Given the description of an element on the screen output the (x, y) to click on. 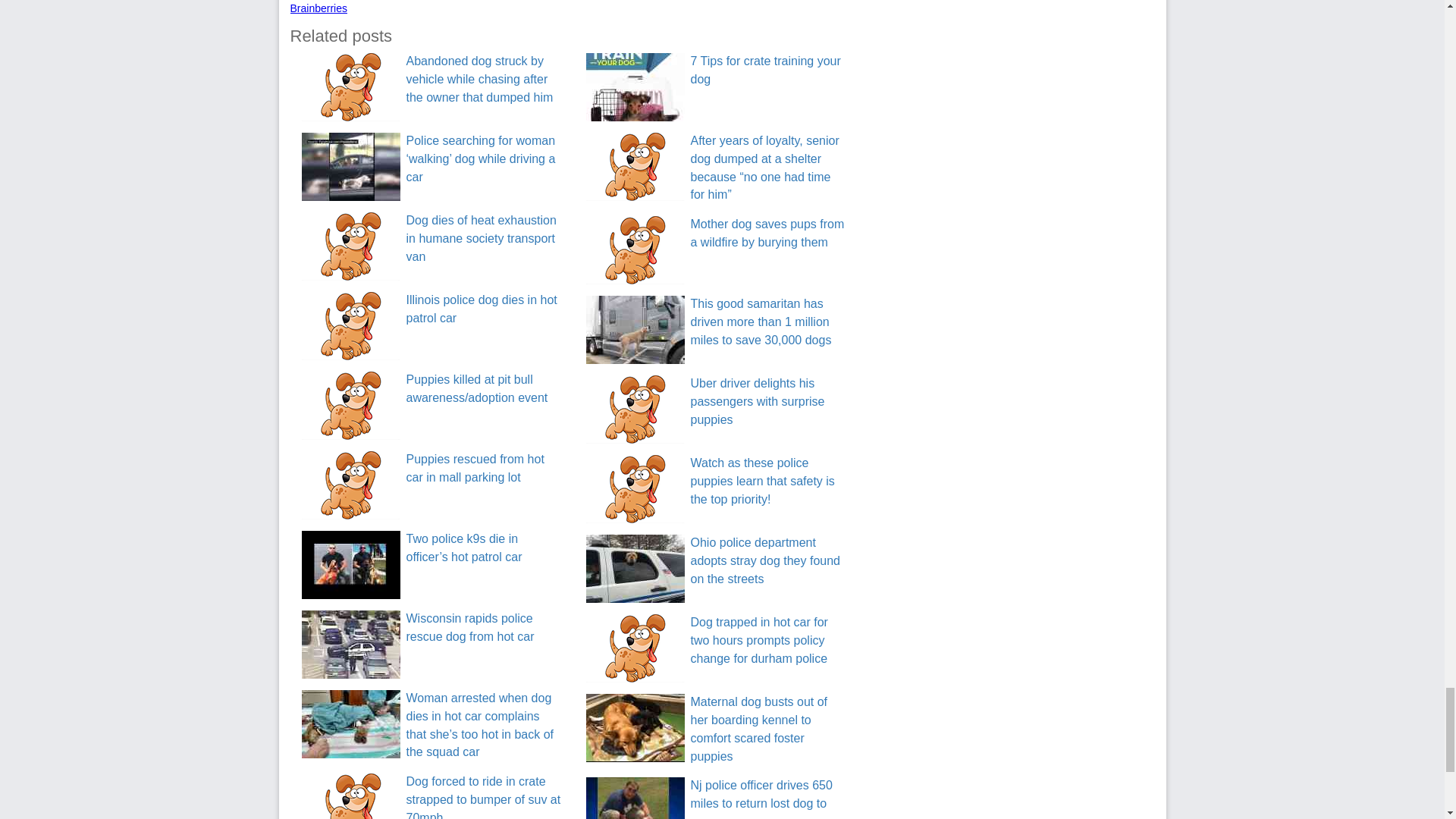
7 Tips for crate training your dog (765, 69)
Wisconsin rapids police rescue dog from hot car (470, 626)
Illinois police dog dies in hot patrol car (350, 325)
Puppies rescued from hot car in mall parking lot (475, 468)
Mother dog saves pups from a wildfire by burying them (767, 232)
Illinois police dog dies in hot patrol car (481, 308)
Dog dies of heat exhaustion in humane society transport van (350, 246)
Wisconsin rapids police rescue dog from hot car (470, 626)
Uber driver delights his passengers with surprise puppies (757, 400)
Wisconsin rapids police rescue dog from hot car (350, 644)
Dog dies of heat exhaustion in humane society transport van (481, 237)
Dog dies of heat exhaustion in humane society transport van (481, 237)
